Given the description of an element on the screen output the (x, y) to click on. 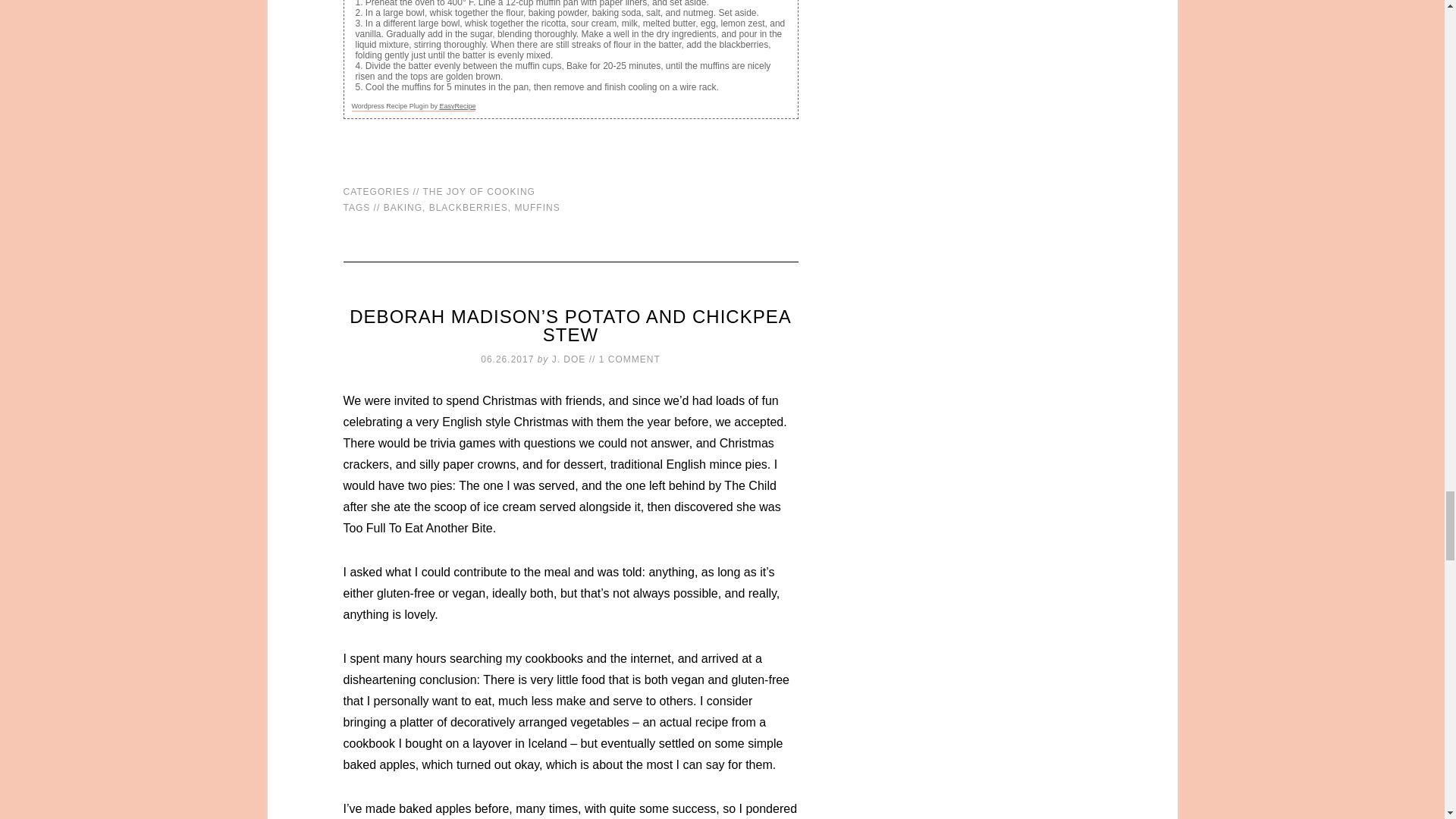
EasyRecipe Wordpress Recipe Plugin (414, 106)
Wordpress Recipe Plugin by EasyRecipe (414, 106)
MUFFINS (536, 207)
1 COMMENT (629, 358)
THE JOY OF COOKING (478, 191)
J. DOE (568, 358)
BLACKBERRIES (468, 207)
BAKING (403, 207)
